Given the description of an element on the screen output the (x, y) to click on. 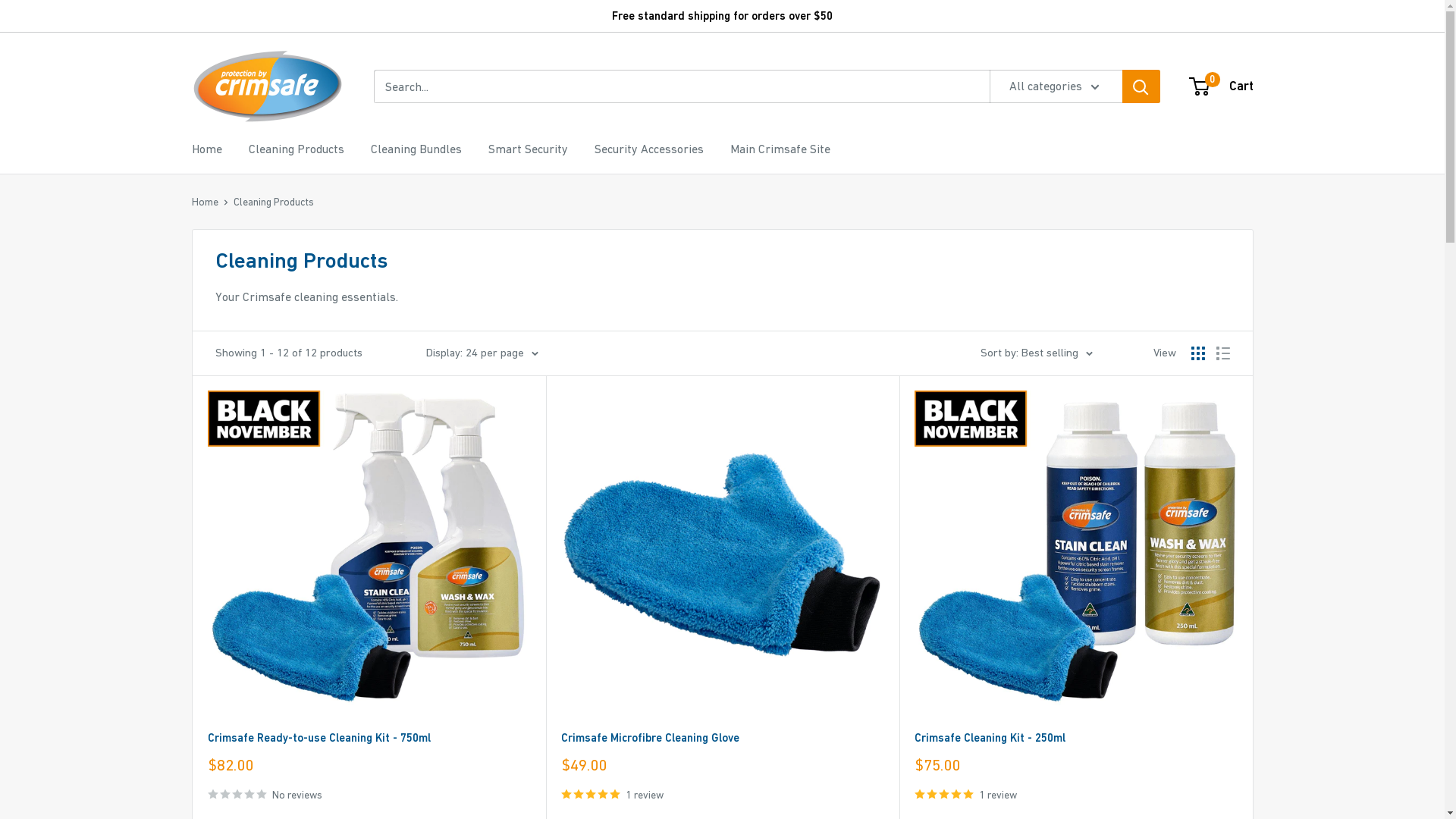
Smart Security Element type: text (527, 149)
1 review Element type: text (722, 793)
Cleaning Products Element type: text (273, 201)
Cleaning Products Element type: text (296, 149)
Crimsafe Security Systems Pty Ltd Element type: text (266, 86)
0
Cart Element type: text (1221, 86)
No reviews Element type: text (368, 793)
Main Crimsafe Site Element type: text (779, 149)
Security Accessories Element type: text (648, 149)
Cleaning Bundles Element type: text (415, 149)
Crimsafe Microfibre Cleaning Glove Element type: text (722, 736)
Crimsafe Ready-to-use Cleaning Kit - 750ml Element type: text (368, 736)
Home Element type: text (204, 201)
Home Element type: text (206, 149)
1 review Element type: text (1075, 793)
Display: 24 per page Element type: text (482, 352)
Sort by: Best selling Element type: text (1035, 352)
Crimsafe Cleaning Kit - 250ml Element type: text (1075, 736)
